Given the description of an element on the screen output the (x, y) to click on. 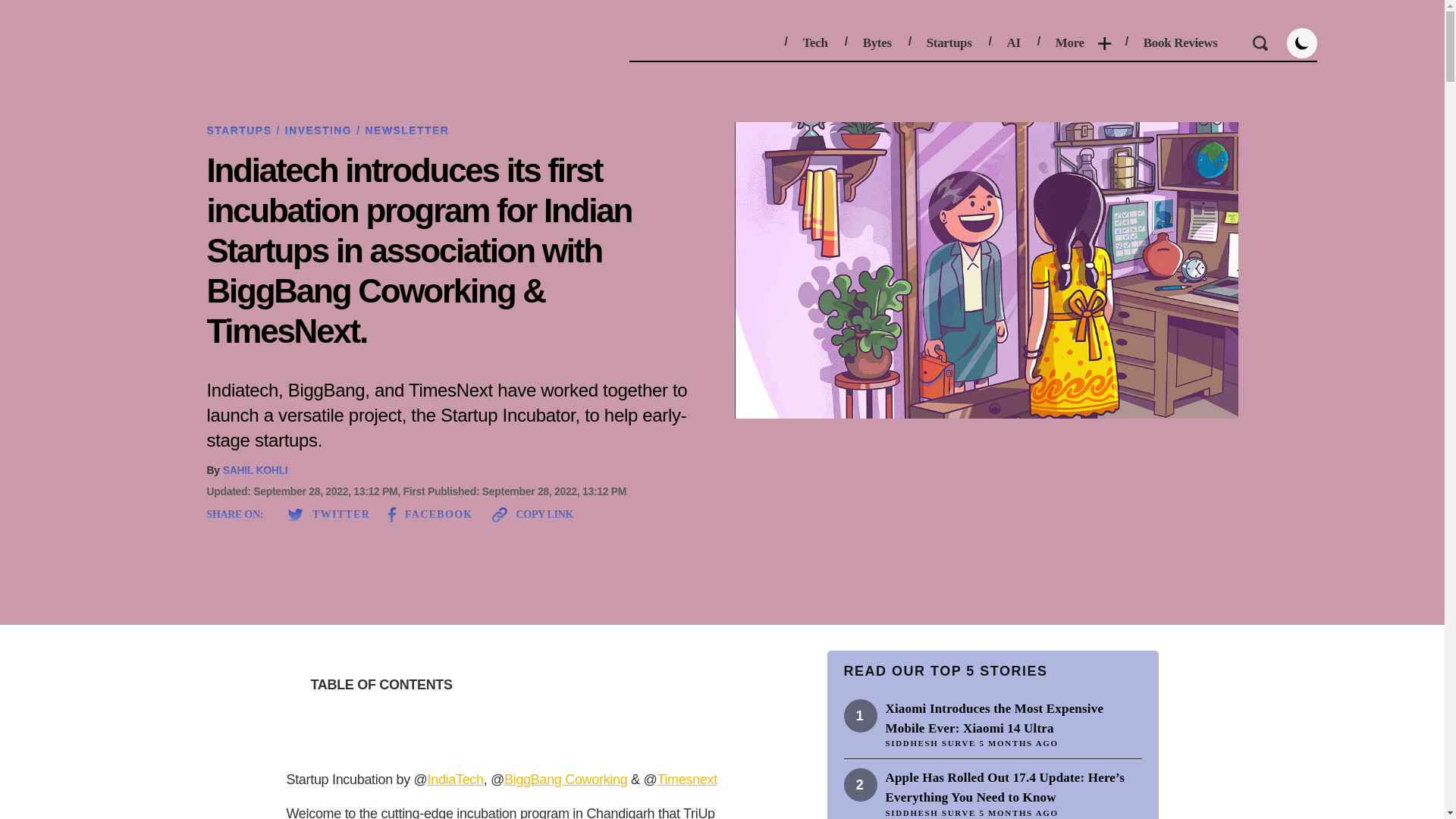
SIDDHESH SURVE (930, 813)
Tech (815, 43)
Startups (949, 43)
BiggBang Coworking (565, 779)
Timesnext (686, 779)
NEWSLETTER (407, 130)
SAHIL KOHLI (255, 470)
SIDDHESH SURVE (930, 743)
FACEBOOK (429, 514)
